Given the description of an element on the screen output the (x, y) to click on. 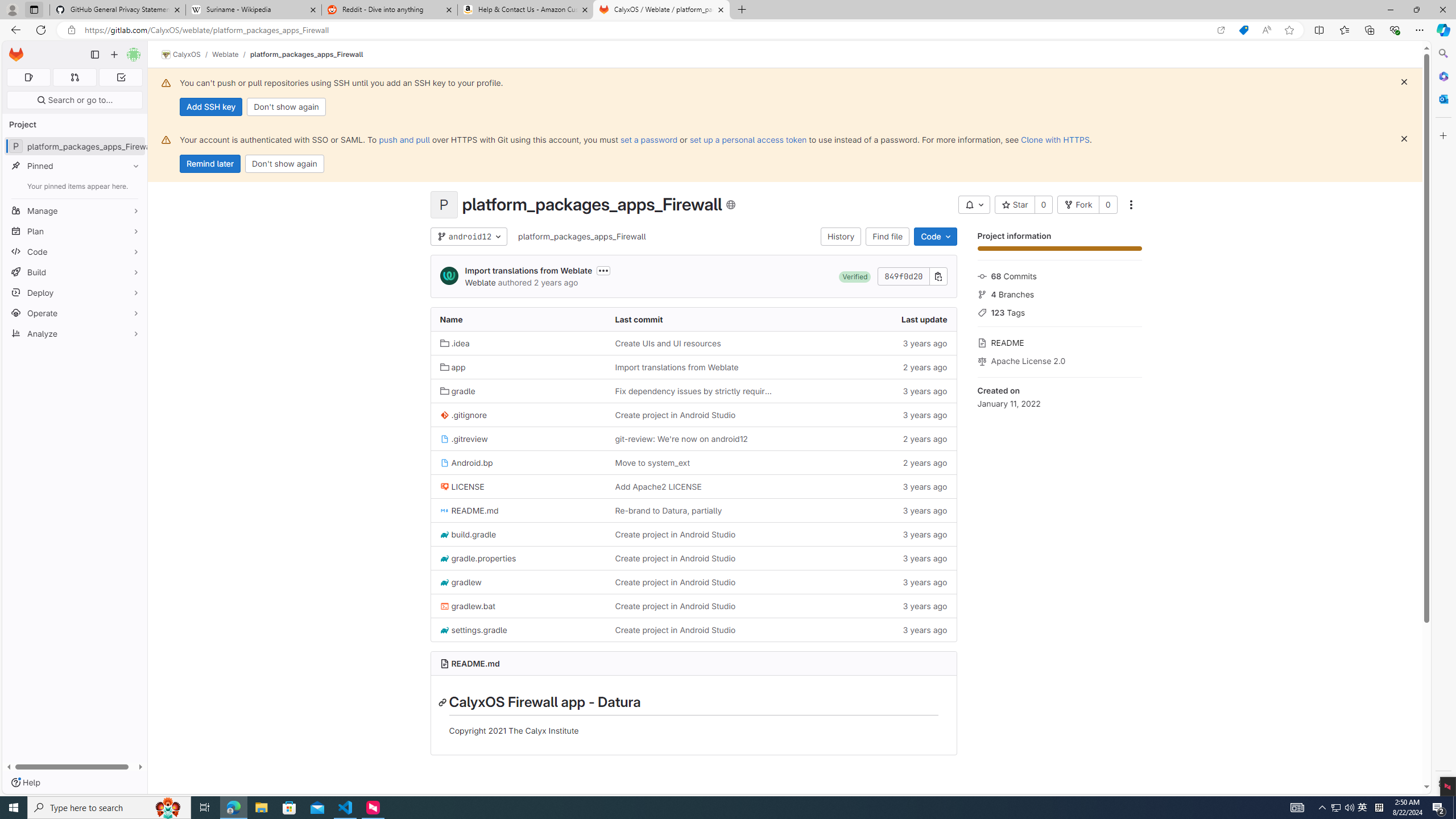
Class: s16 icon gl-mr-3 gl-text-gray-500 (981, 361)
Pinned (74, 165)
CalyxOS (180, 54)
 Star (1014, 204)
Analyze (74, 333)
Move to system_ext (652, 462)
Android.bp (466, 462)
Open in app (1220, 29)
Deploy (74, 292)
gradle (517, 390)
